Given the description of an element on the screen output the (x, y) to click on. 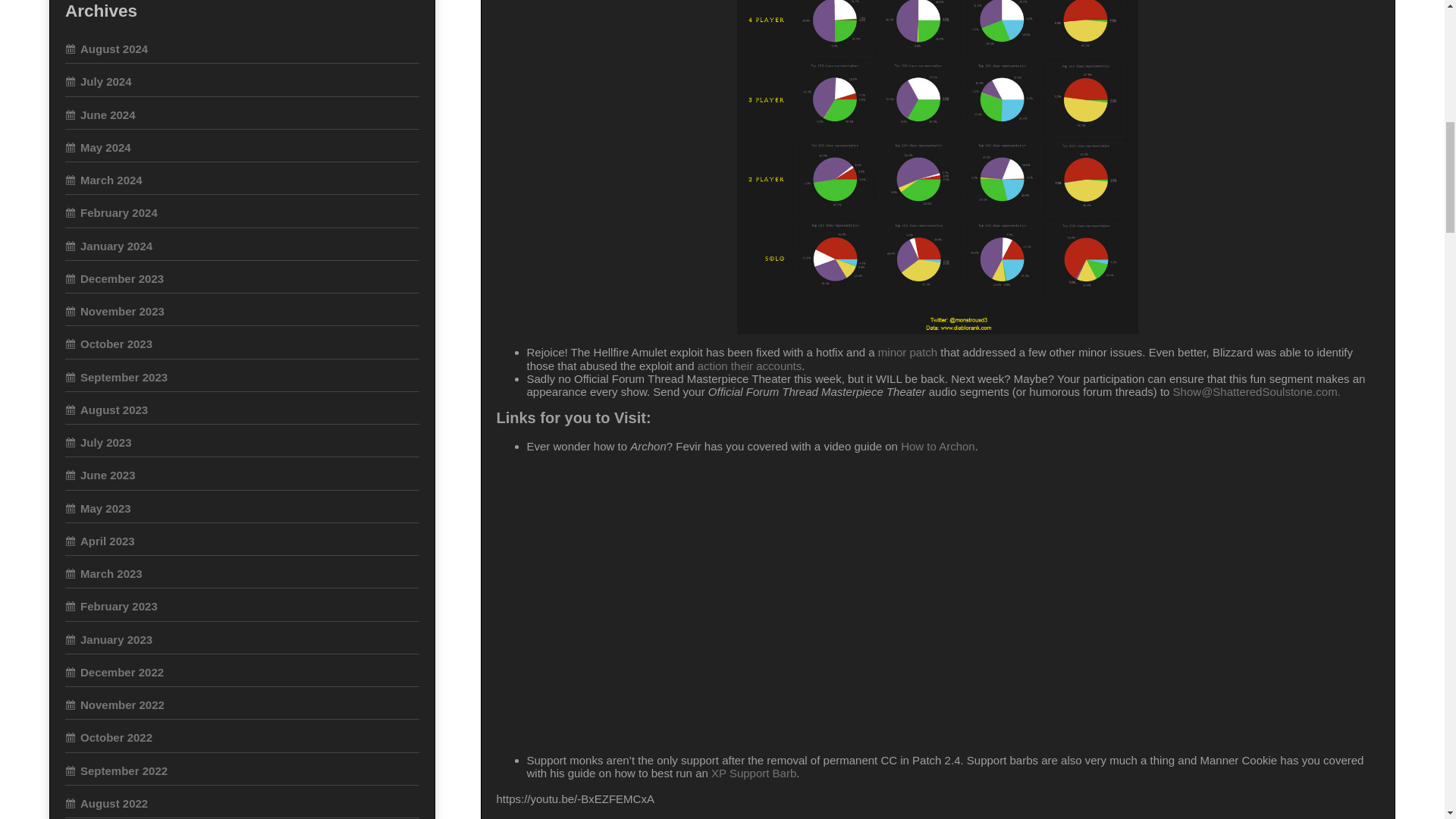
XP Support Barb (753, 772)
minor patch (907, 351)
Diablo 3: How to Archon Wizard Guide (738, 600)
How to Archon (938, 445)
action their accounts (749, 365)
